Given the description of an element on the screen output the (x, y) to click on. 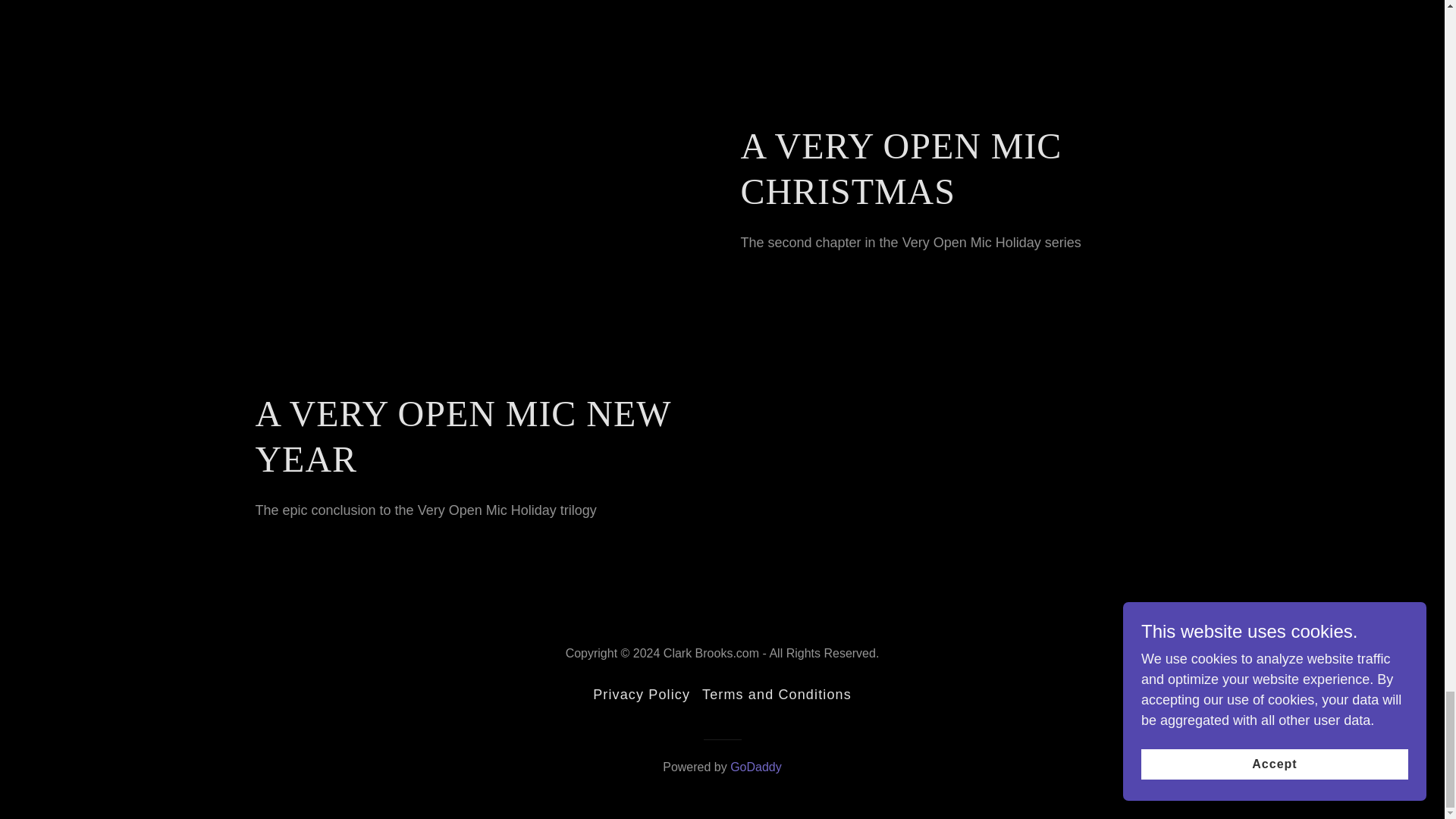
Privacy Policy (640, 694)
GoDaddy (755, 766)
Terms and Conditions (776, 694)
